Given the description of an element on the screen output the (x, y) to click on. 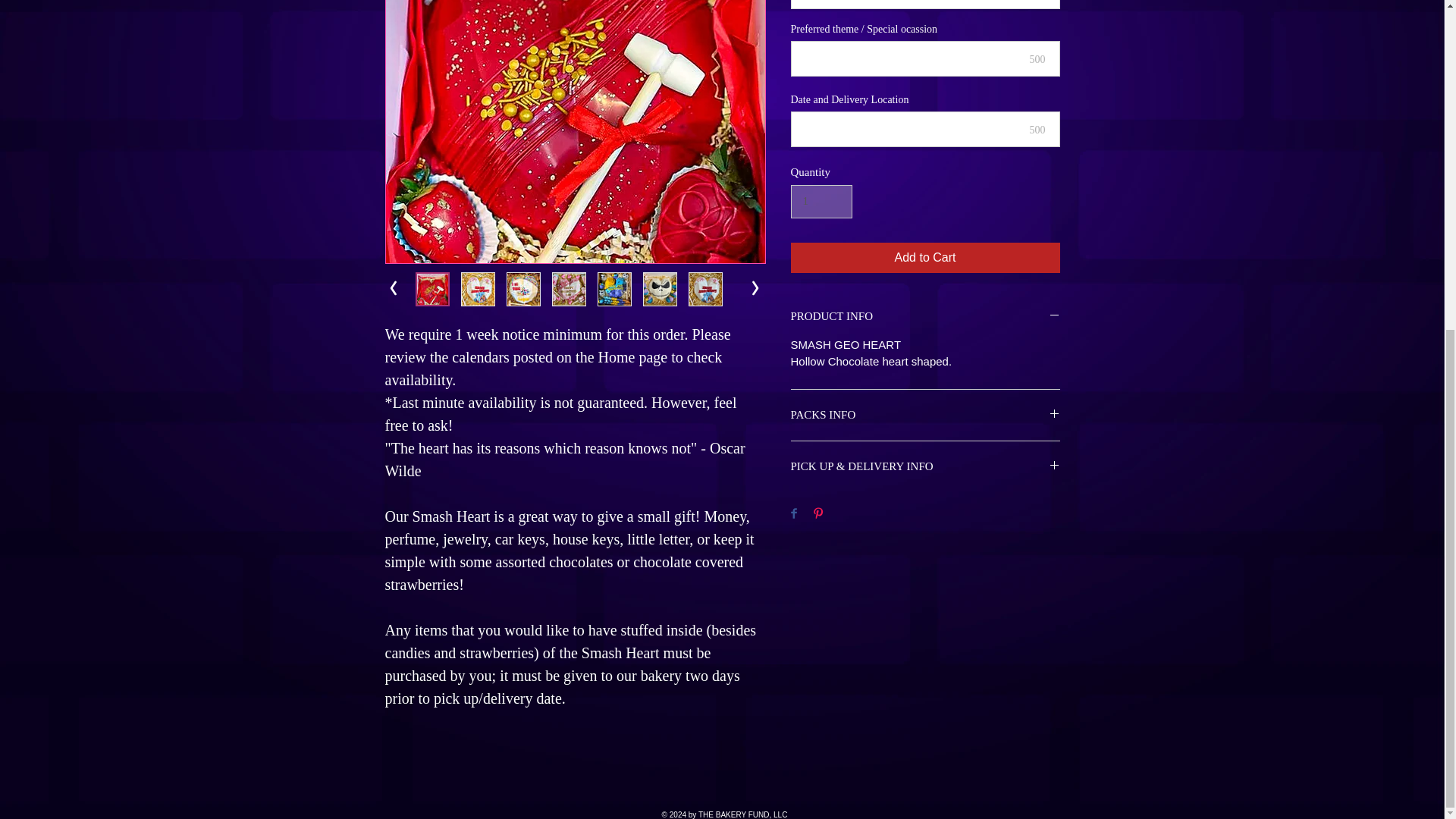
PACKS INFO (924, 414)
Select (924, 4)
1 (820, 201)
PRODUCT INFO (924, 316)
Add to Cart (924, 257)
